Given the description of an element on the screen output the (x, y) to click on. 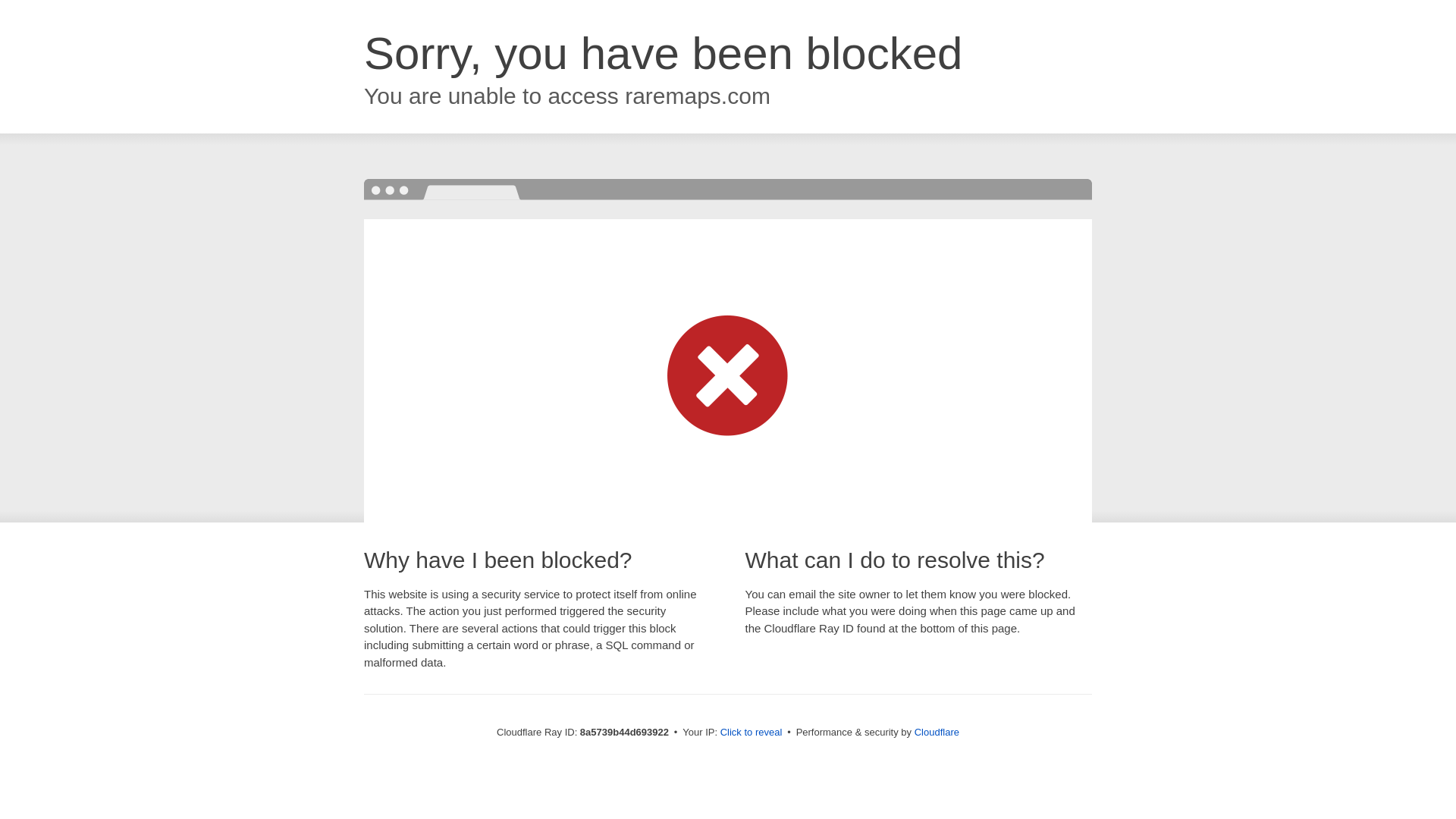
Cloudflare (936, 731)
Click to reveal (751, 732)
